Given the description of an element on the screen output the (x, y) to click on. 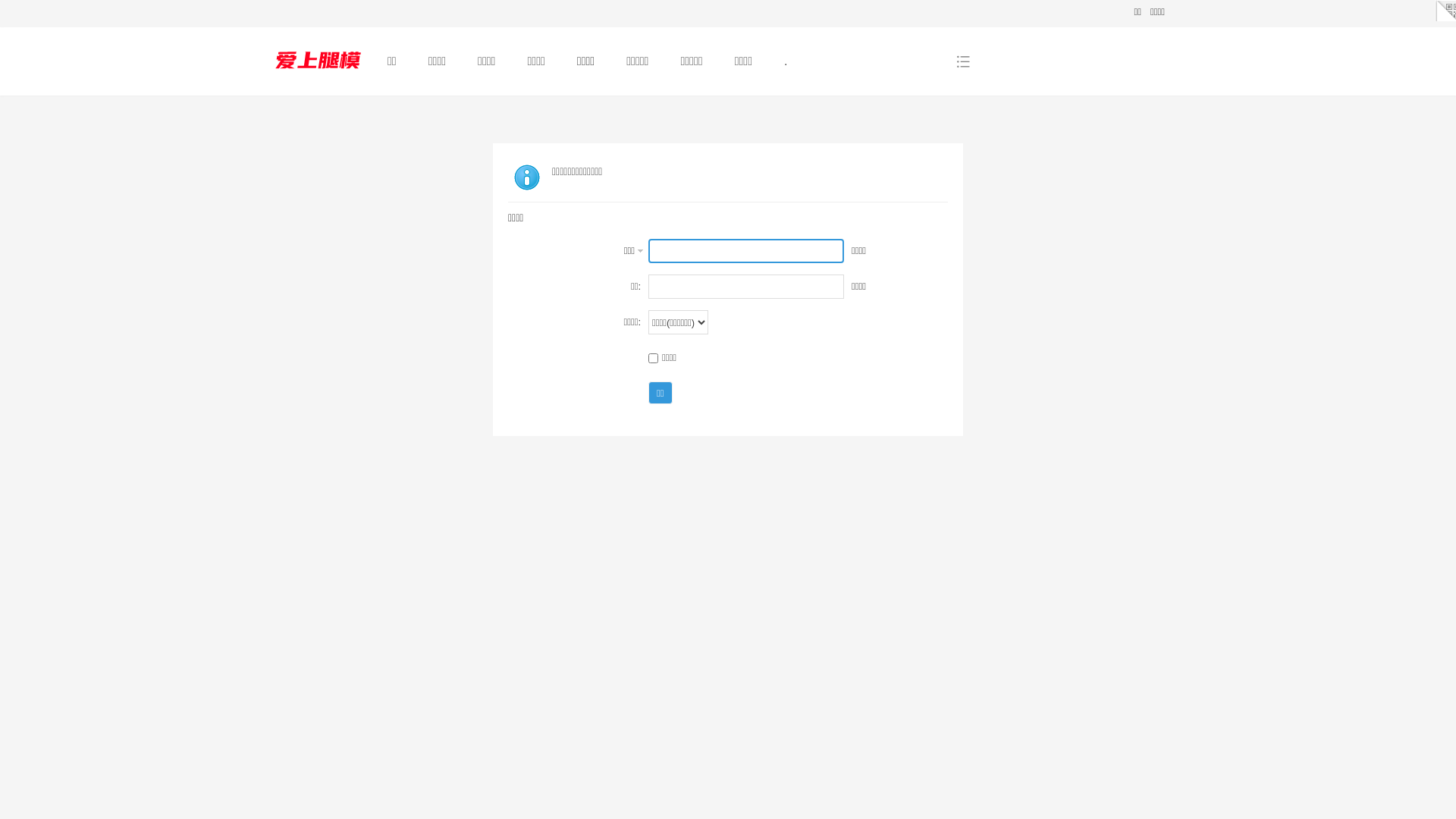
. Element type: hover (318, 84)
. Element type: text (785, 60)
